Given the description of an element on the screen output the (x, y) to click on. 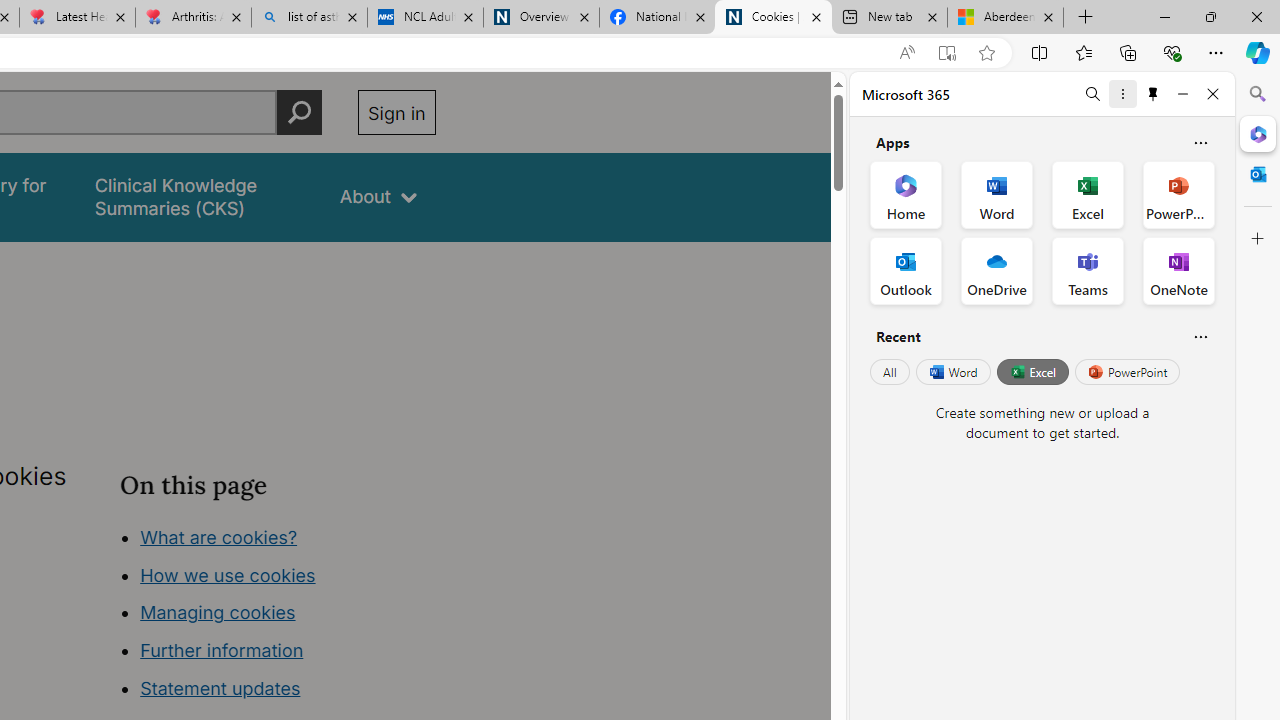
How we use cookies (227, 574)
Is this helpful? (1200, 336)
false (198, 196)
OneNote Office App (1178, 270)
Excel (1031, 372)
